Given the description of an element on the screen output the (x, y) to click on. 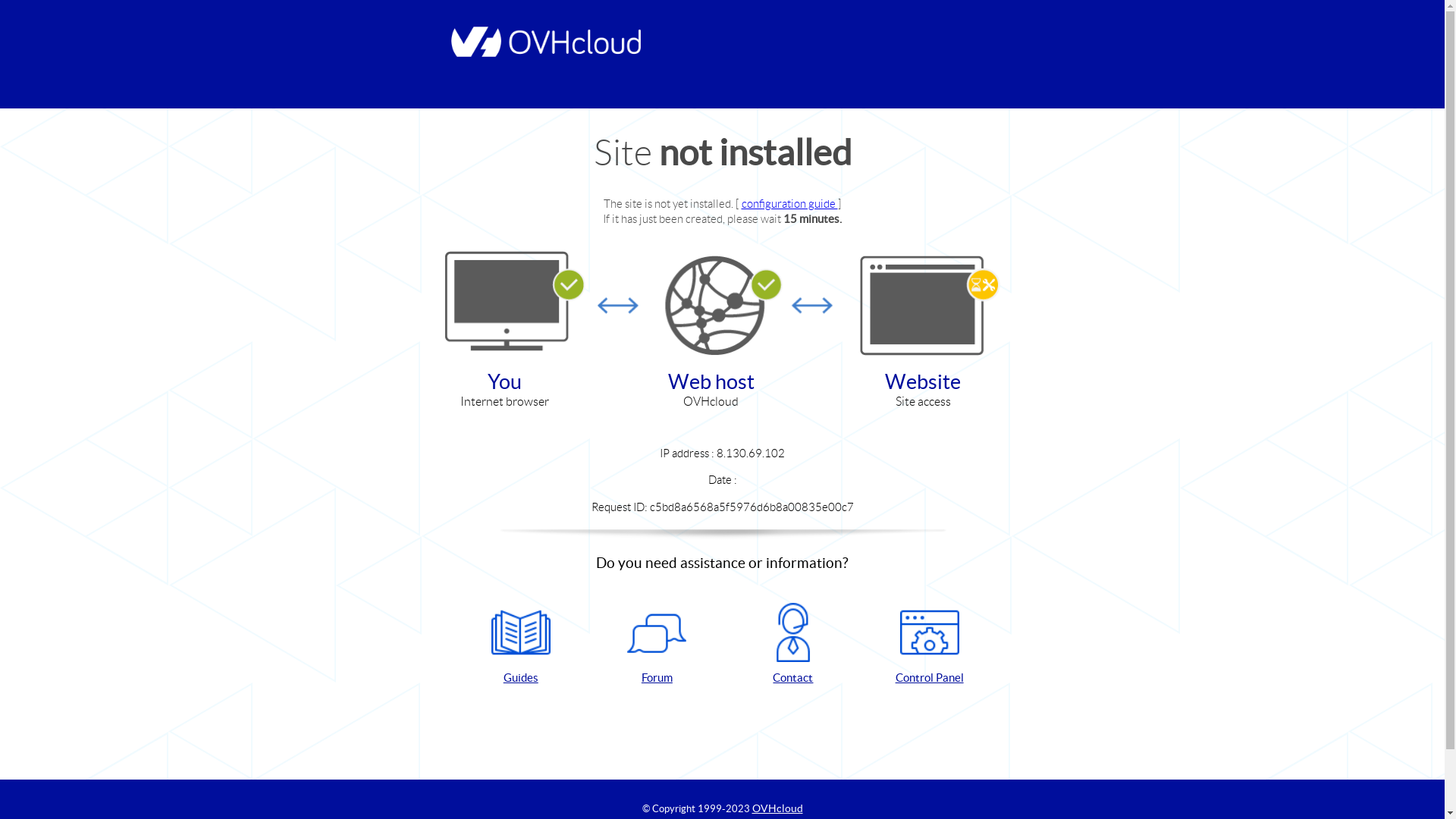
Forum Element type: text (656, 644)
Guides Element type: text (520, 644)
Contact Element type: text (792, 644)
configuration guide Element type: text (789, 203)
Control Panel Element type: text (929, 644)
OVHcloud Element type: text (777, 808)
